Given the description of an element on the screen output the (x, y) to click on. 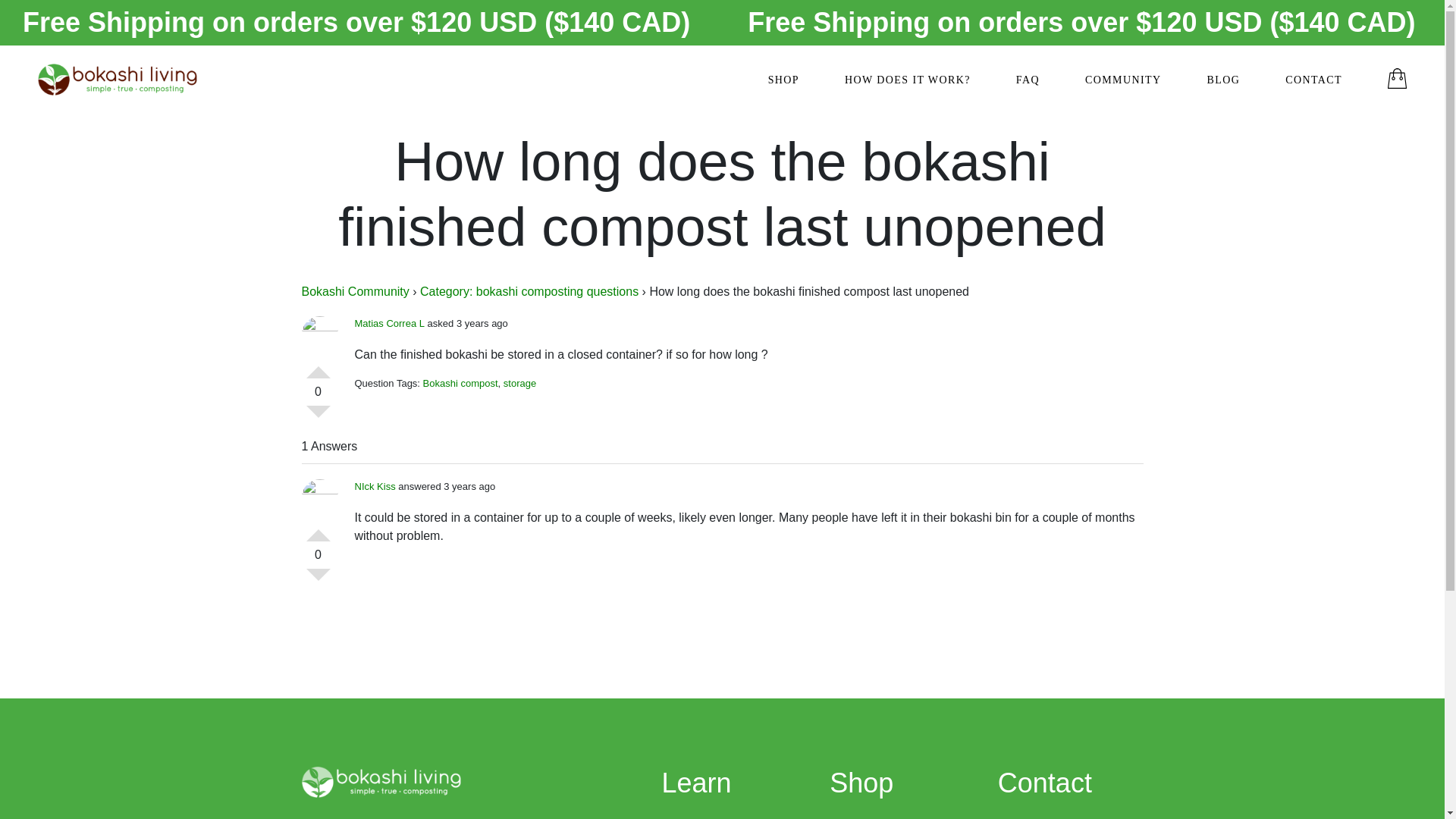
BLOG (1223, 79)
Vote Down (317, 417)
NIck Kiss (375, 486)
SHOP (783, 79)
Vote Down (317, 580)
FAQ (1027, 79)
Bokashi Logo (116, 79)
Vote Up (317, 365)
CONTACT (1313, 79)
Matias Correa L (390, 323)
